Given the description of an element on the screen output the (x, y) to click on. 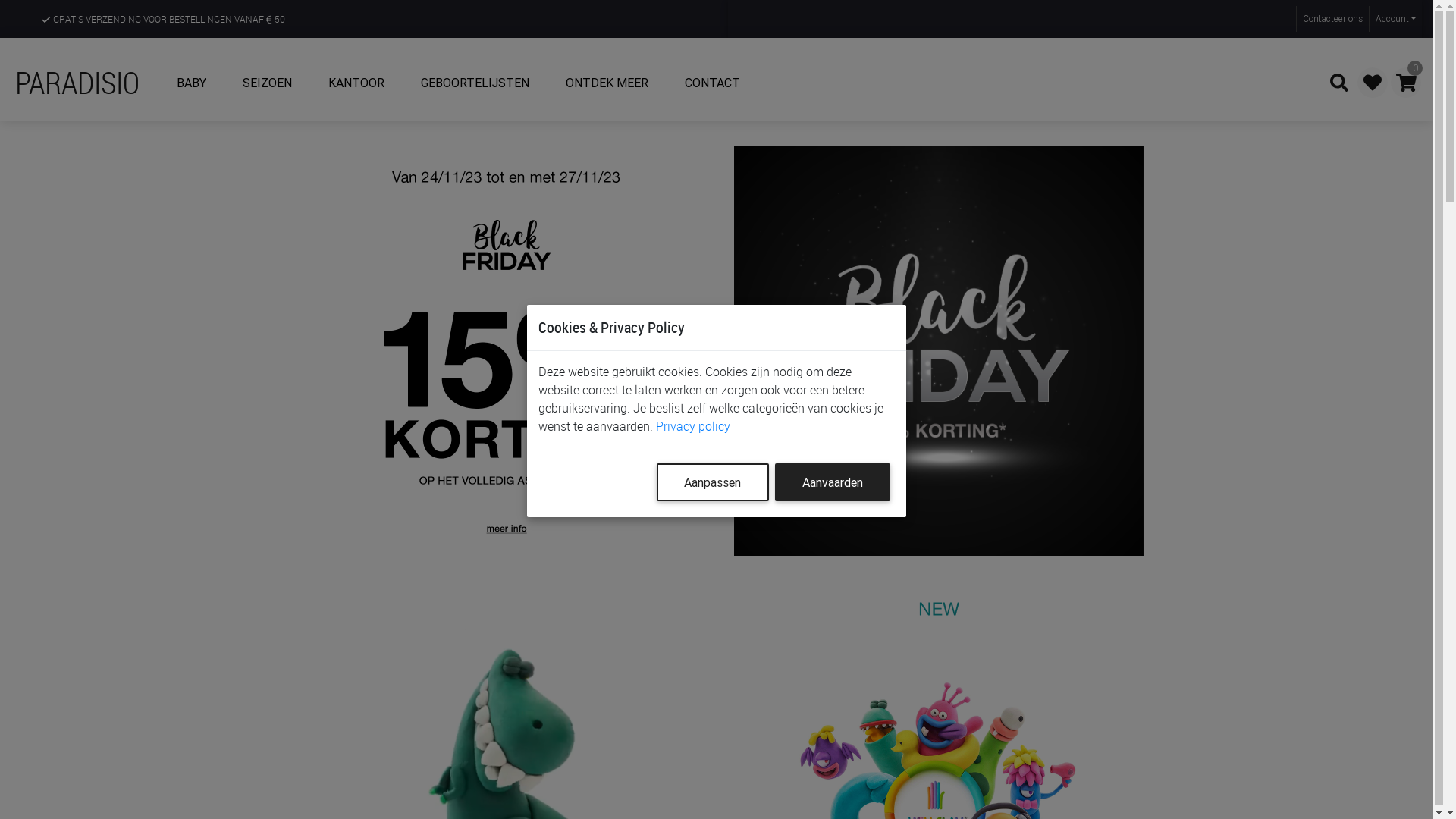
PARADISIO Element type: text (86, 82)
Je winkelkar
0 Element type: text (1405, 82)
GRATIS VERZENDING VOOR BESTELLINGEN VANAF 50 Element type: text (163, 18)
Aanvaarden Element type: text (832, 482)
GEBOORTELIJSTEN Element type: text (474, 82)
Privacy policy Element type: text (692, 425)
Aanpassen Element type: text (712, 482)
KANTOOR Element type: text (356, 82)
ONTDEK MEER Element type: text (606, 82)
BABY Element type: text (191, 82)
CONTACT Element type: text (712, 82)
SEIZOEN Element type: text (267, 82)
Account Element type: text (1394, 18)
Contacteer ons Element type: text (1331, 18)
Je lijsten Element type: text (1372, 82)
